Given the description of an element on the screen output the (x, y) to click on. 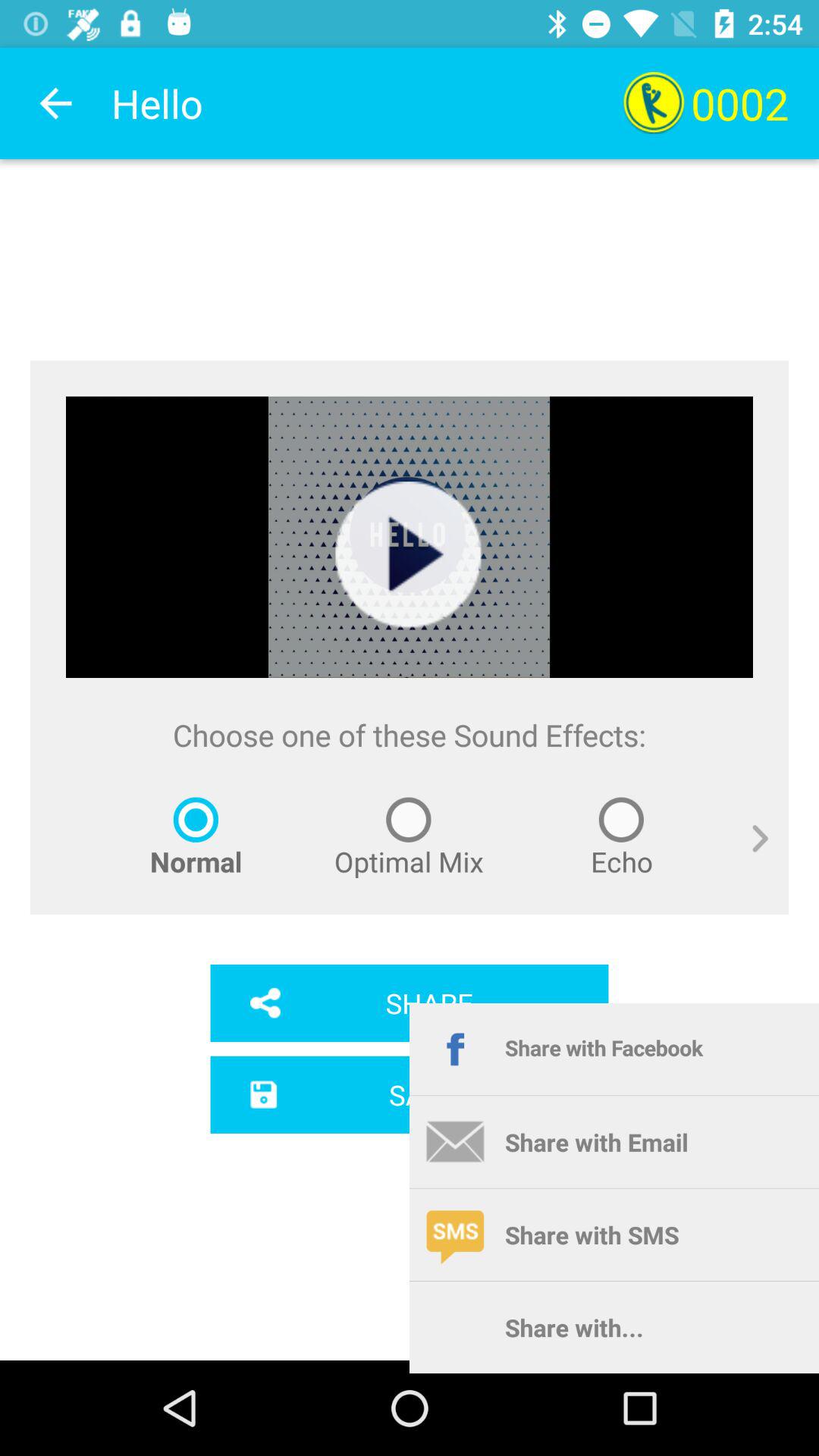
choose the save (409, 1094)
